Given the description of an element on the screen output the (x, y) to click on. 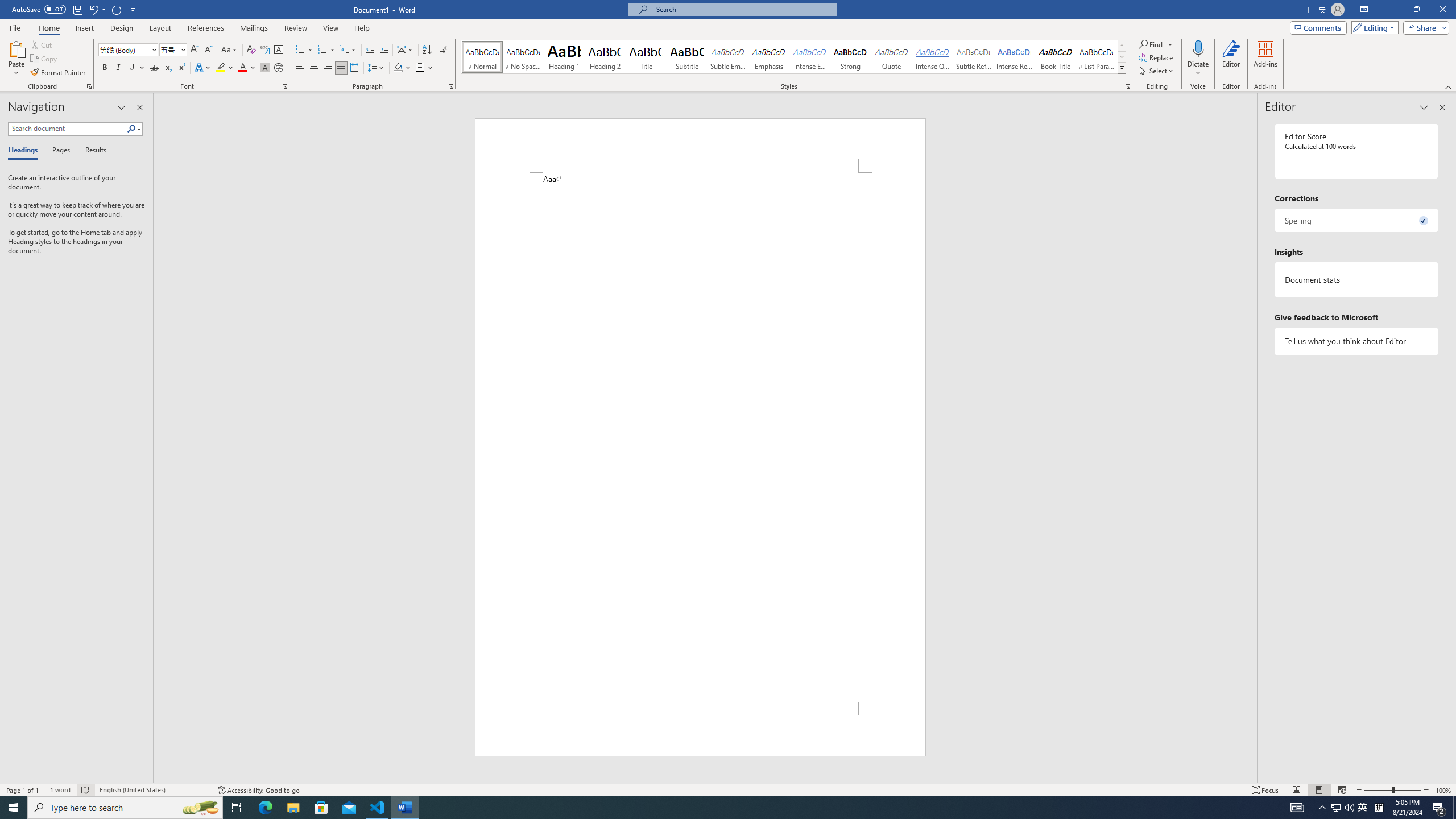
Page 1 content (700, 436)
Intense Quote (932, 56)
